Given the description of an element on the screen output the (x, y) to click on. 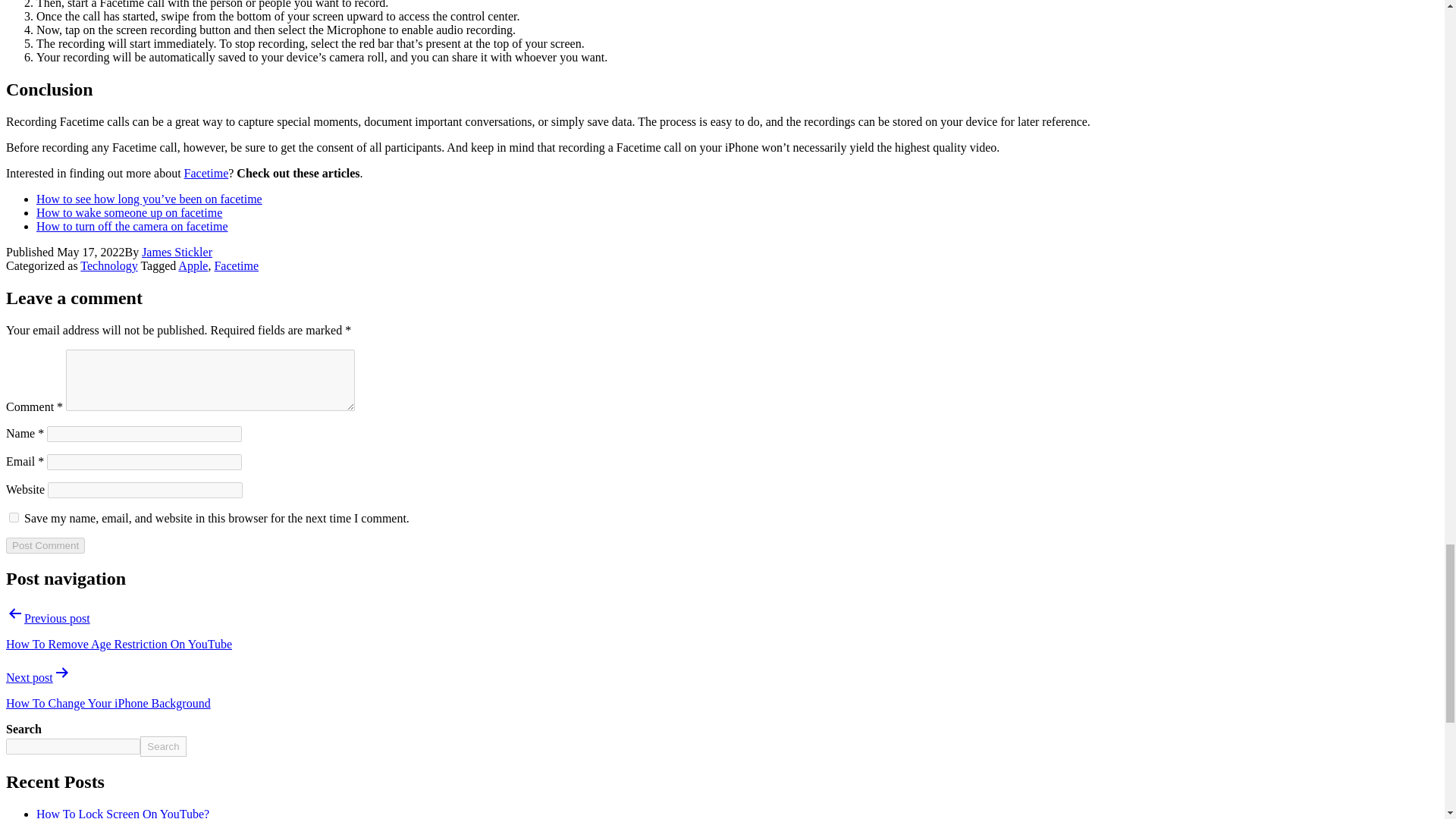
Facetime (236, 265)
How to wake someone up on facetime (129, 212)
Search (162, 746)
Apple (192, 265)
James Stickler (176, 251)
How to turn off the camera on facetime (132, 226)
Post Comment (44, 545)
Facetime (206, 173)
How To Lock Screen On YouTube? (122, 812)
Technology (108, 265)
yes (13, 517)
Post Comment (44, 545)
